Given the description of an element on the screen output the (x, y) to click on. 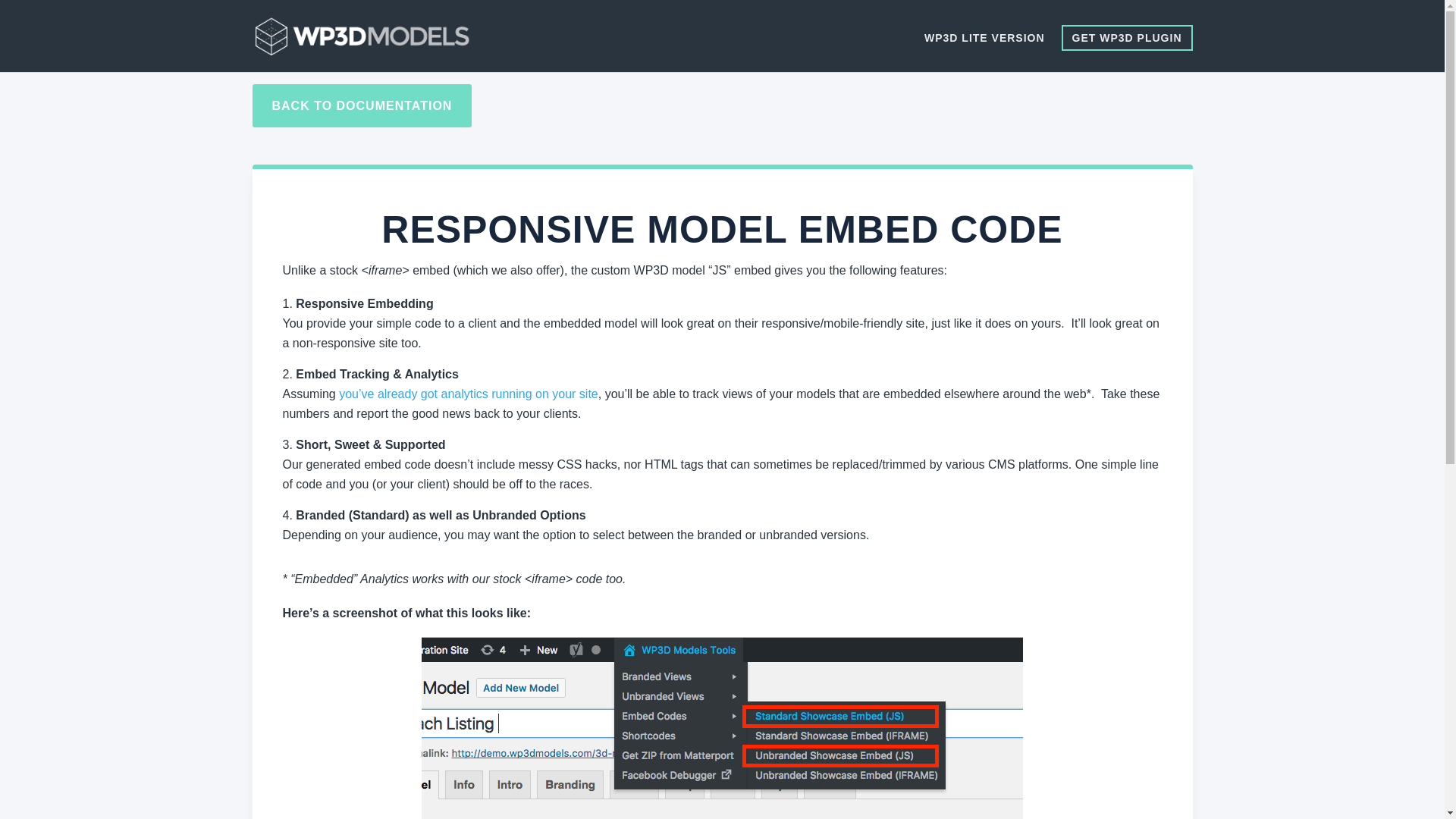
BACK TO DOCUMENTATION (361, 105)
WP3D LITE VERSION (984, 49)
GET WP3D PLUGIN (1126, 37)
